Given the description of an element on the screen output the (x, y) to click on. 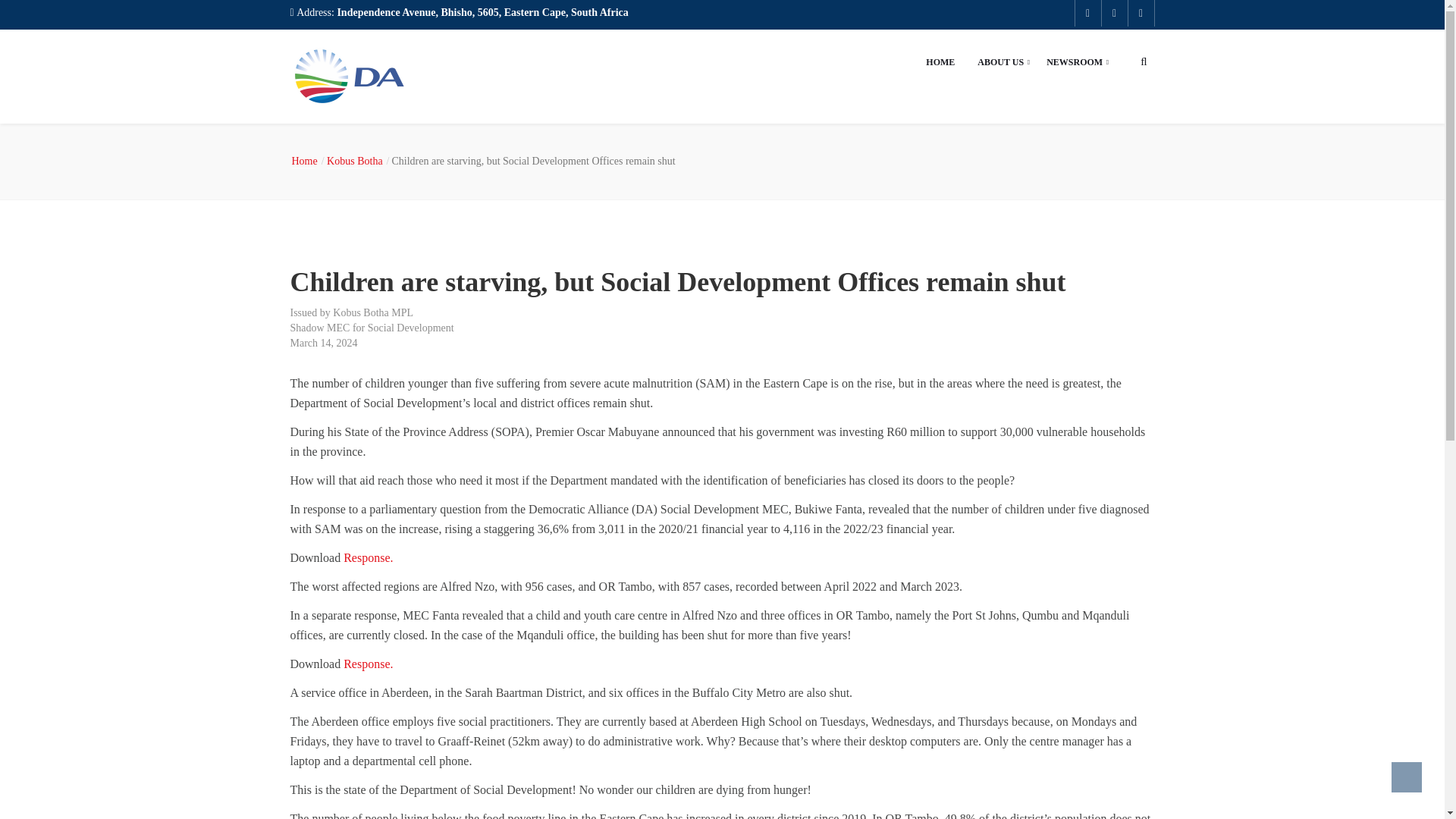
ABOUT US (1000, 62)
Response. (368, 663)
Home (307, 161)
Response. (368, 557)
Kobus Botha (357, 161)
Search (1091, 171)
NEWSROOM (1074, 62)
